Given the description of an element on the screen output the (x, y) to click on. 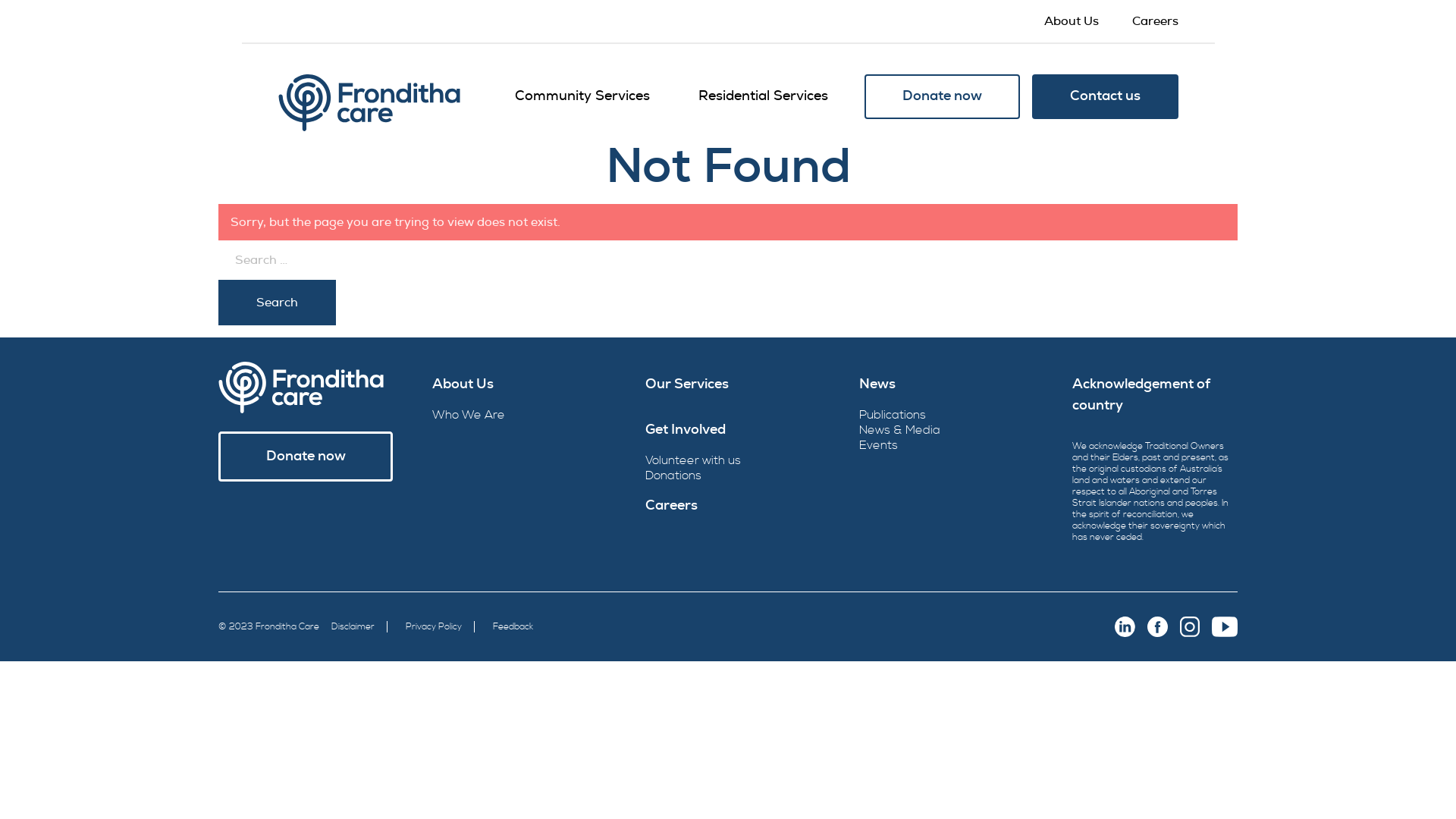
Events Element type: text (878, 444)
Get Involved Element type: text (727, 429)
Publications Element type: text (892, 414)
News Element type: text (941, 384)
Community Services Element type: text (581, 95)
Our Services Element type: text (727, 384)
Careers Element type: text (1154, 21)
Careers Element type: text (727, 505)
About Us Element type: text (1070, 21)
Who We Are Element type: text (468, 414)
News & Media Element type: text (899, 429)
Privacy Policy Element type: text (433, 626)
Residential Services Element type: text (762, 95)
Search Element type: text (276, 302)
About Us Element type: text (514, 384)
Disclaimer Element type: text (352, 626)
Contact us Element type: text (1104, 96)
Feedback Element type: text (512, 626)
Donate now Element type: text (305, 456)
Donate now Element type: text (941, 96)
Donations Element type: text (673, 475)
Volunteer with us Element type: text (692, 459)
